Given the description of an element on the screen output the (x, y) to click on. 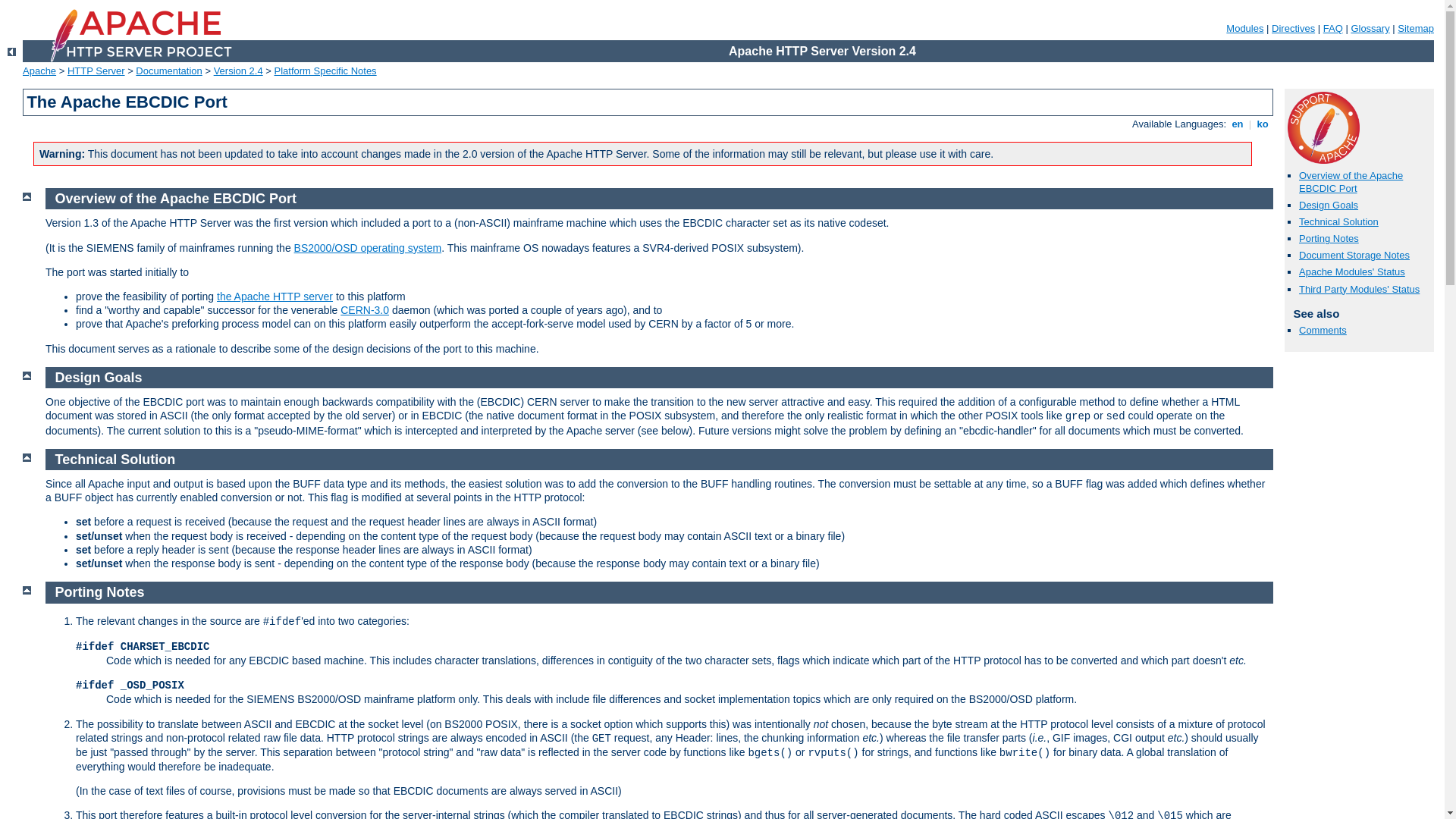
Apache Element type: text (39, 70)
Apache Modules' Status Element type: text (1352, 271)
<- Element type: hover (11, 51)
Modules Element type: text (1244, 28)
BS2000/OSD operating system Element type: text (368, 247)
the Apache HTTP server Element type: text (274, 296)
Glossary Element type: text (1369, 28)
Porting Notes Element type: text (99, 591)
 en  Element type: text (1237, 123)
Documentation Element type: text (168, 70)
CERN-3.0 Element type: text (364, 310)
Porting Notes Element type: text (1328, 238)
Version 2.4 Element type: text (238, 70)
Comments Element type: text (1322, 329)
Technical Solution Element type: text (115, 459)
Document Storage Notes Element type: text (1354, 254)
Platform Specific Notes Element type: text (325, 70)
HTTP Server Element type: text (96, 70)
FAQ Element type: text (1333, 28)
Overview of the Apache EBCDIC Port Element type: text (1350, 181)
 ko  Element type: text (1262, 123)
Design Goals Element type: text (1328, 204)
Technical Solution Element type: text (1338, 221)
Directives Element type: text (1292, 28)
Design Goals Element type: text (98, 377)
Third Party Modules' Status Element type: text (1359, 288)
Sitemap Element type: text (1415, 28)
Overview of the Apache EBCDIC Port Element type: text (175, 198)
